Given the description of an element on the screen output the (x, y) to click on. 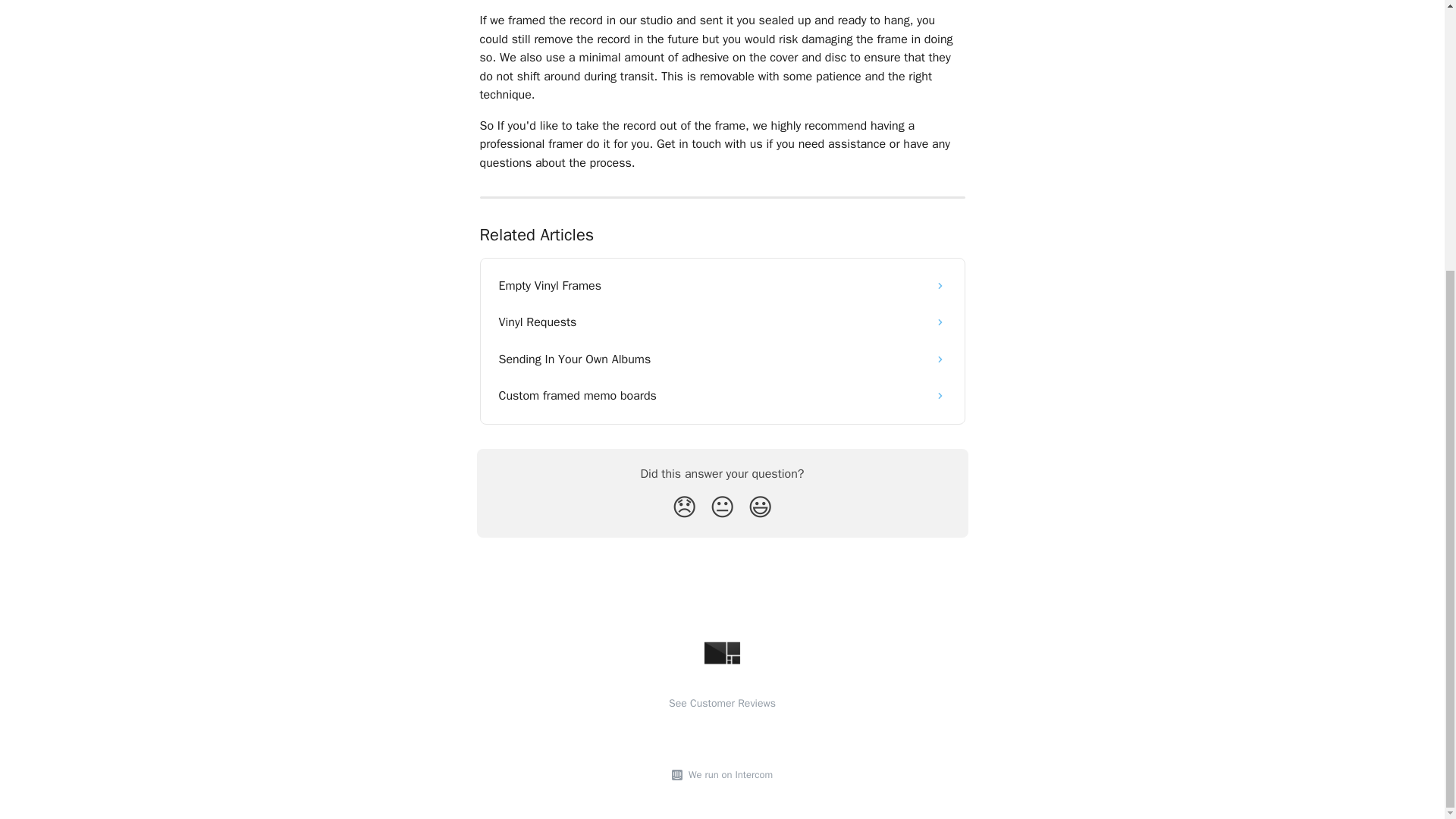
Empty Vinyl Frames (722, 285)
Vinyl Requests (722, 321)
Sending In Your Own Albums (722, 359)
See Customer Reviews (722, 703)
We run on Intercom (727, 774)
Custom framed memo boards (722, 395)
